Given the description of an element on the screen output the (x, y) to click on. 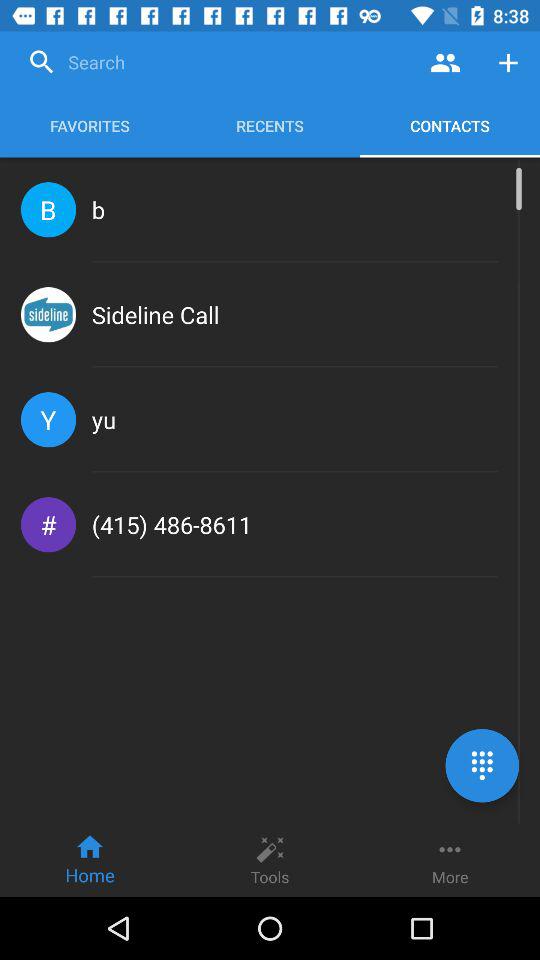
open number pad (482, 765)
